Given the description of an element on the screen output the (x, y) to click on. 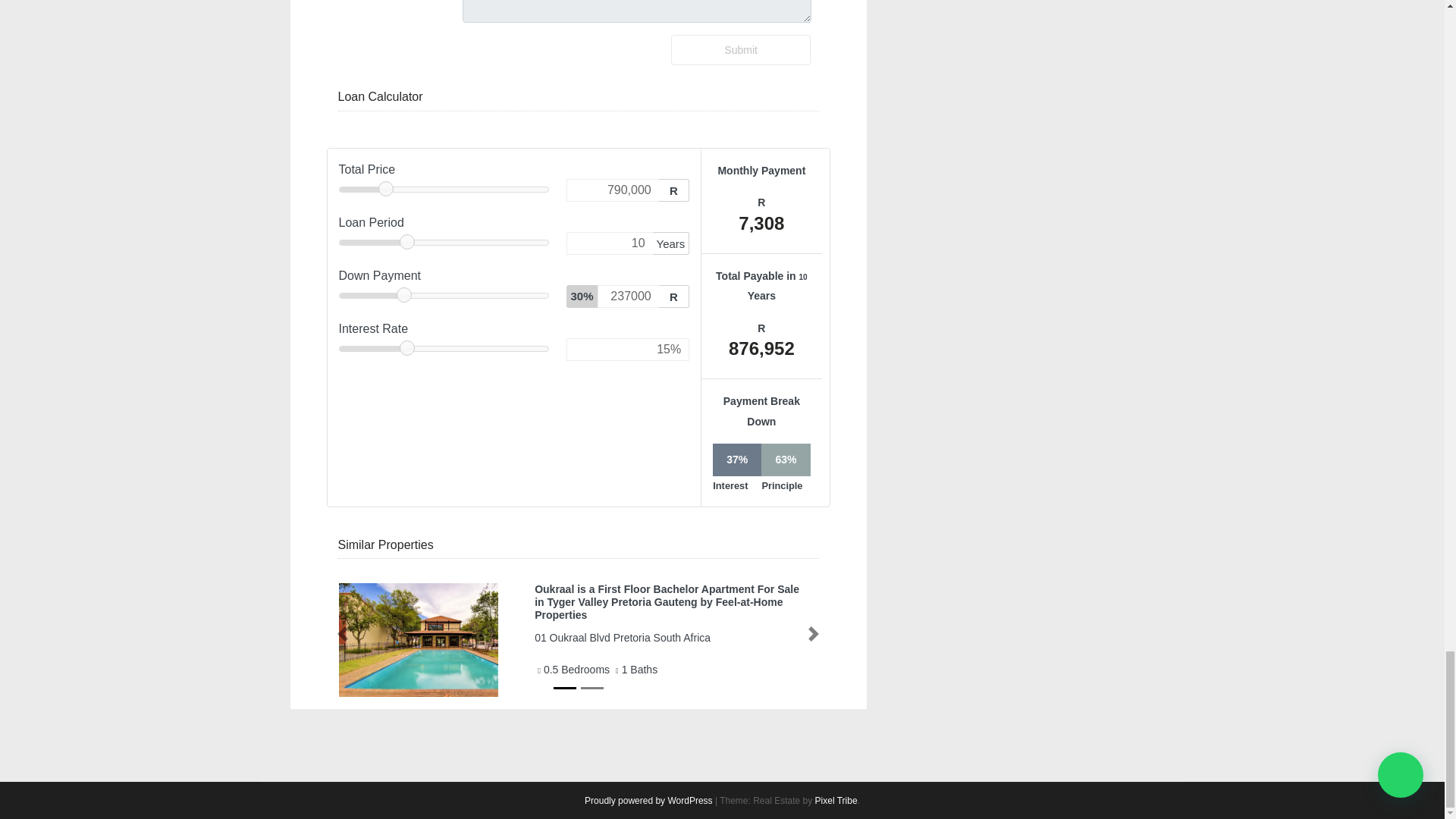
237000 (627, 296)
10 (609, 242)
790,000 (612, 190)
